Given the description of an element on the screen output the (x, y) to click on. 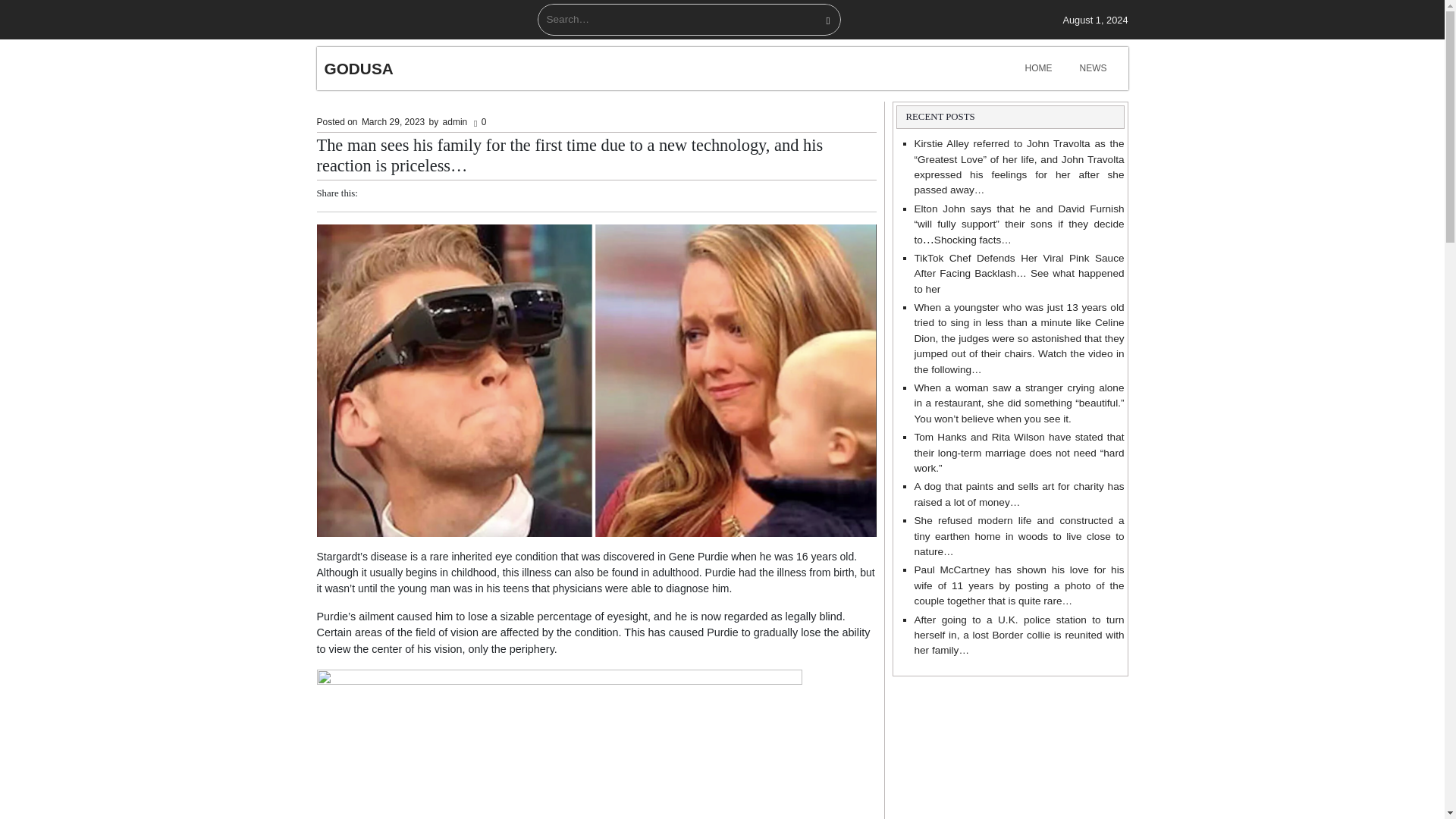
GODUSA (358, 68)
admin (454, 121)
HOME (1038, 68)
March 29, 2023 (392, 121)
NEWS (1093, 68)
